Given the description of an element on the screen output the (x, y) to click on. 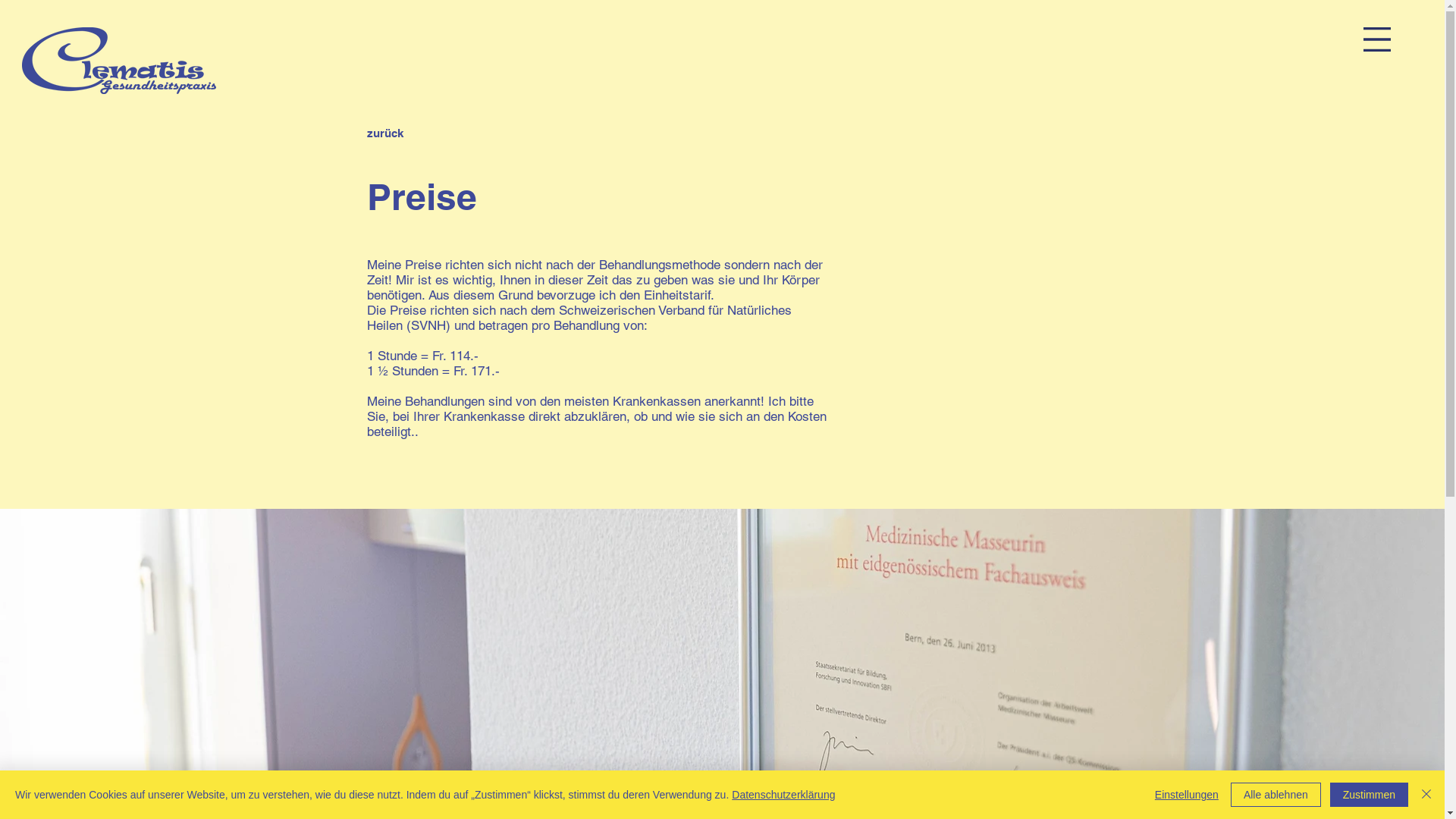
Alle ablehnen Element type: text (1275, 794)
logo_clematis.png Element type: hover (118, 60)
Zustimmen Element type: text (1369, 794)
